Given the description of an element on the screen output the (x, y) to click on. 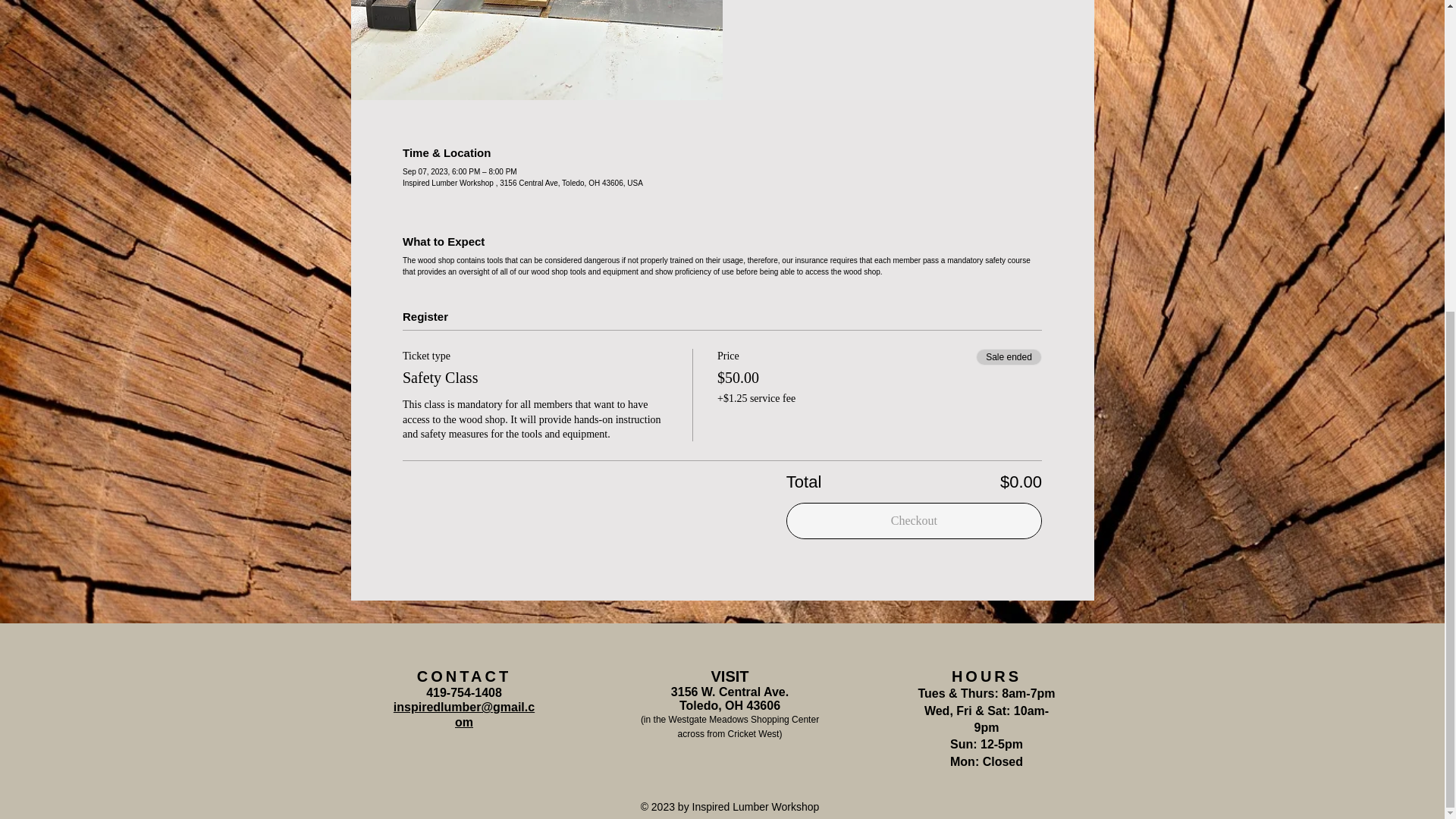
Checkout (914, 520)
419-754-1 (453, 692)
408 (491, 692)
